Given the description of an element on the screen output the (x, y) to click on. 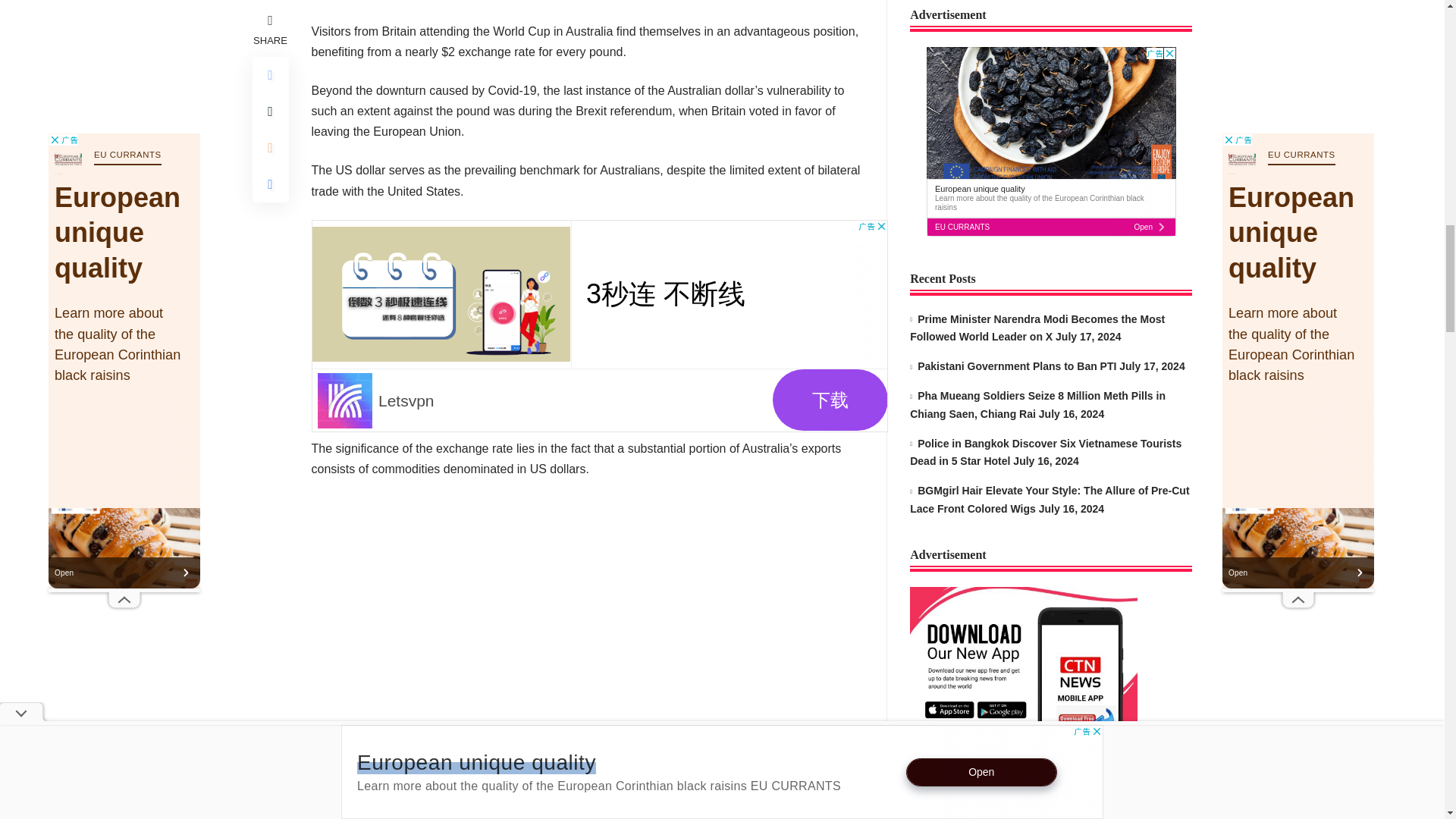
Advertisement (598, 326)
